Given the description of an element on the screen output the (x, y) to click on. 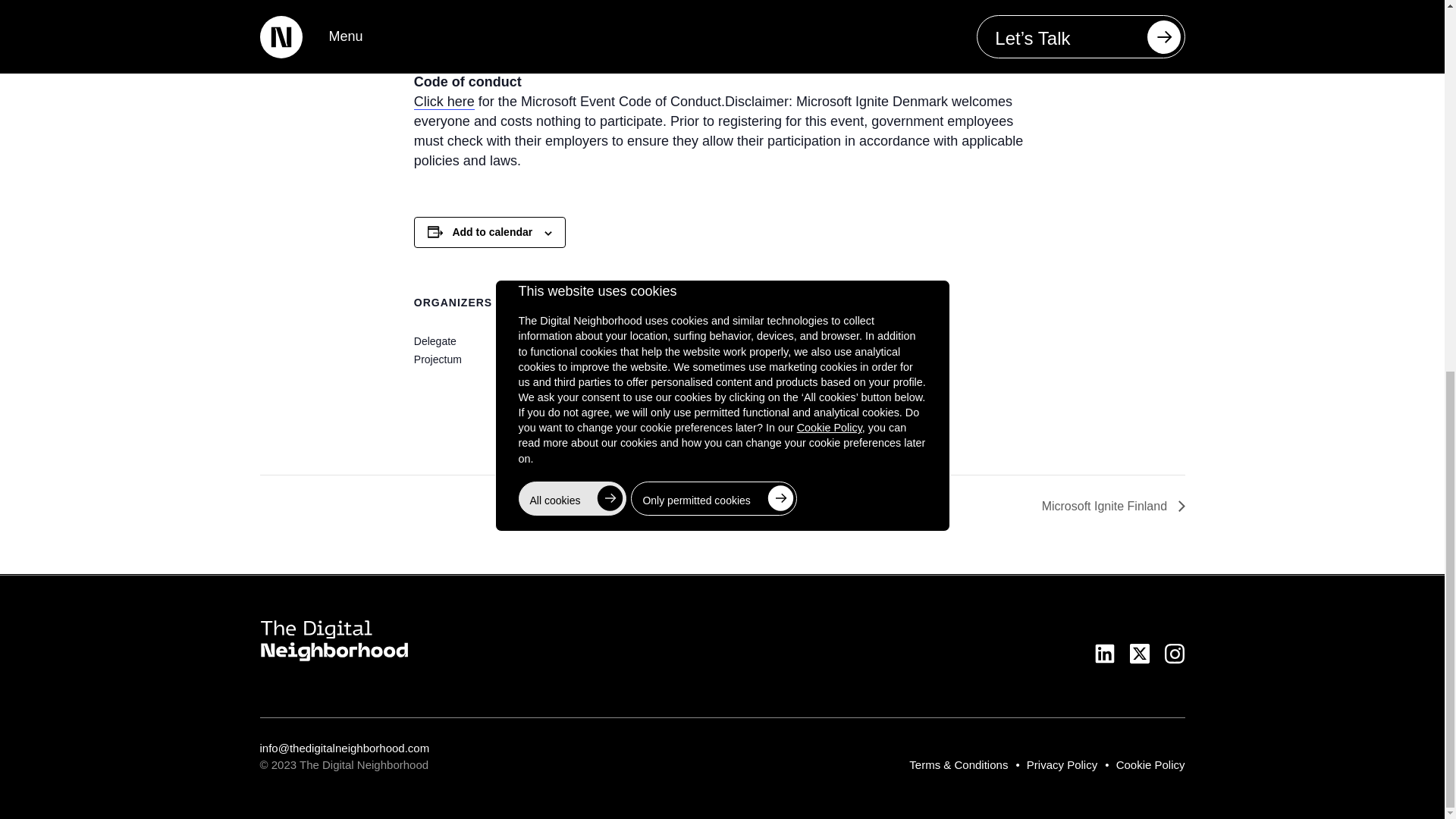
Cookie Policy (1150, 764)
Microsoft Ignite Finland (1109, 505)
Click here (443, 101)
Follow us on instagram (1174, 653)
Privacy Policy (1061, 764)
Click to view a Google Map (672, 401)
Follow us on twitter (1139, 653)
Follow us on linkedin (1104, 653)
Add to calendar (491, 232)
